Given the description of an element on the screen output the (x, y) to click on. 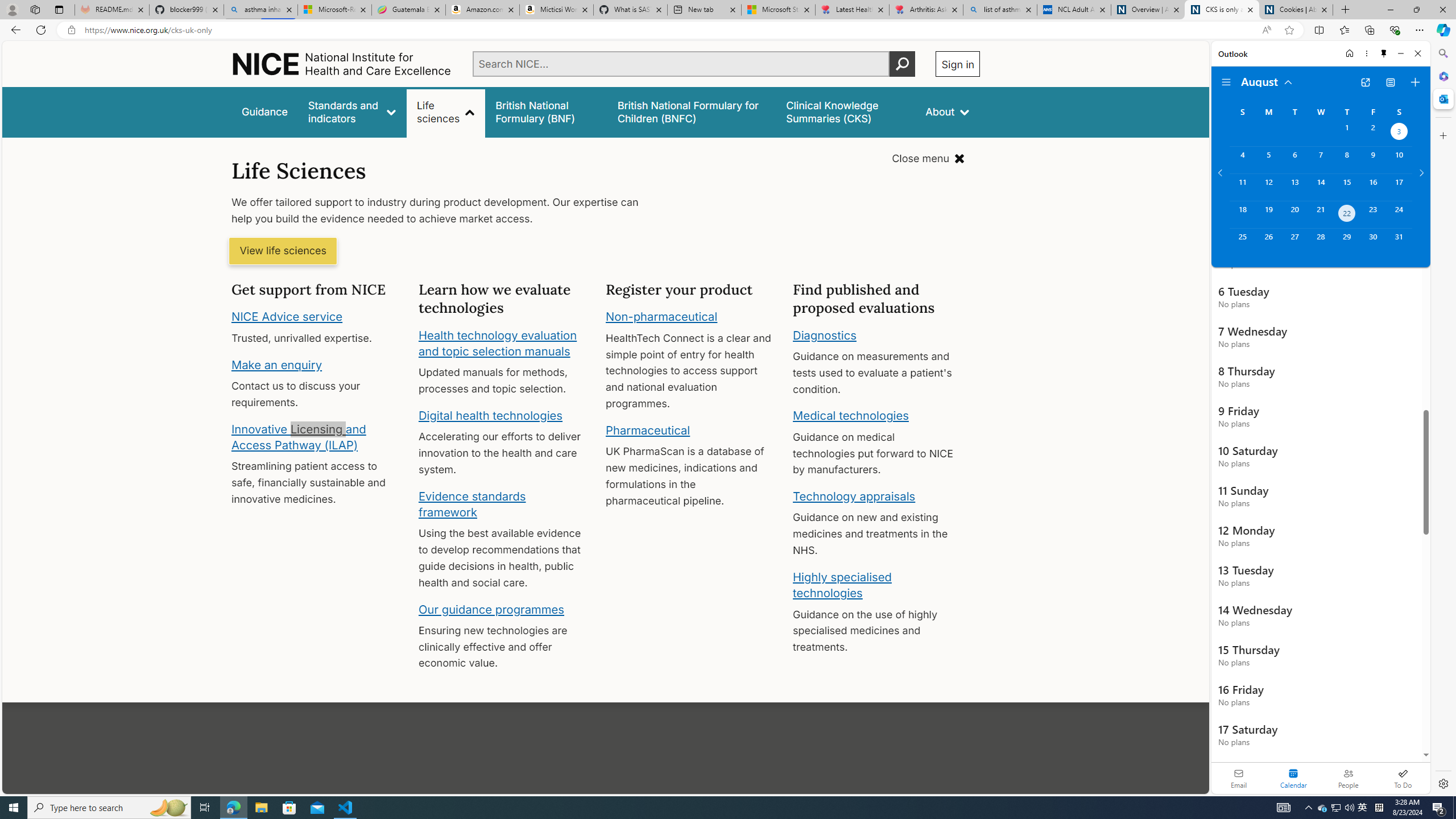
About (947, 111)
Innovative Licensing and Access Pathway (ILAP) (298, 436)
Make an enquiry (276, 364)
Close menu (927, 159)
NICE Advice service (287, 316)
Folder navigation (1225, 82)
Monday, August 19, 2024.  (1268, 214)
Thursday, August 8, 2024.  (1346, 159)
Thursday, August 29, 2024.  (1346, 241)
